Given the description of an element on the screen output the (x, y) to click on. 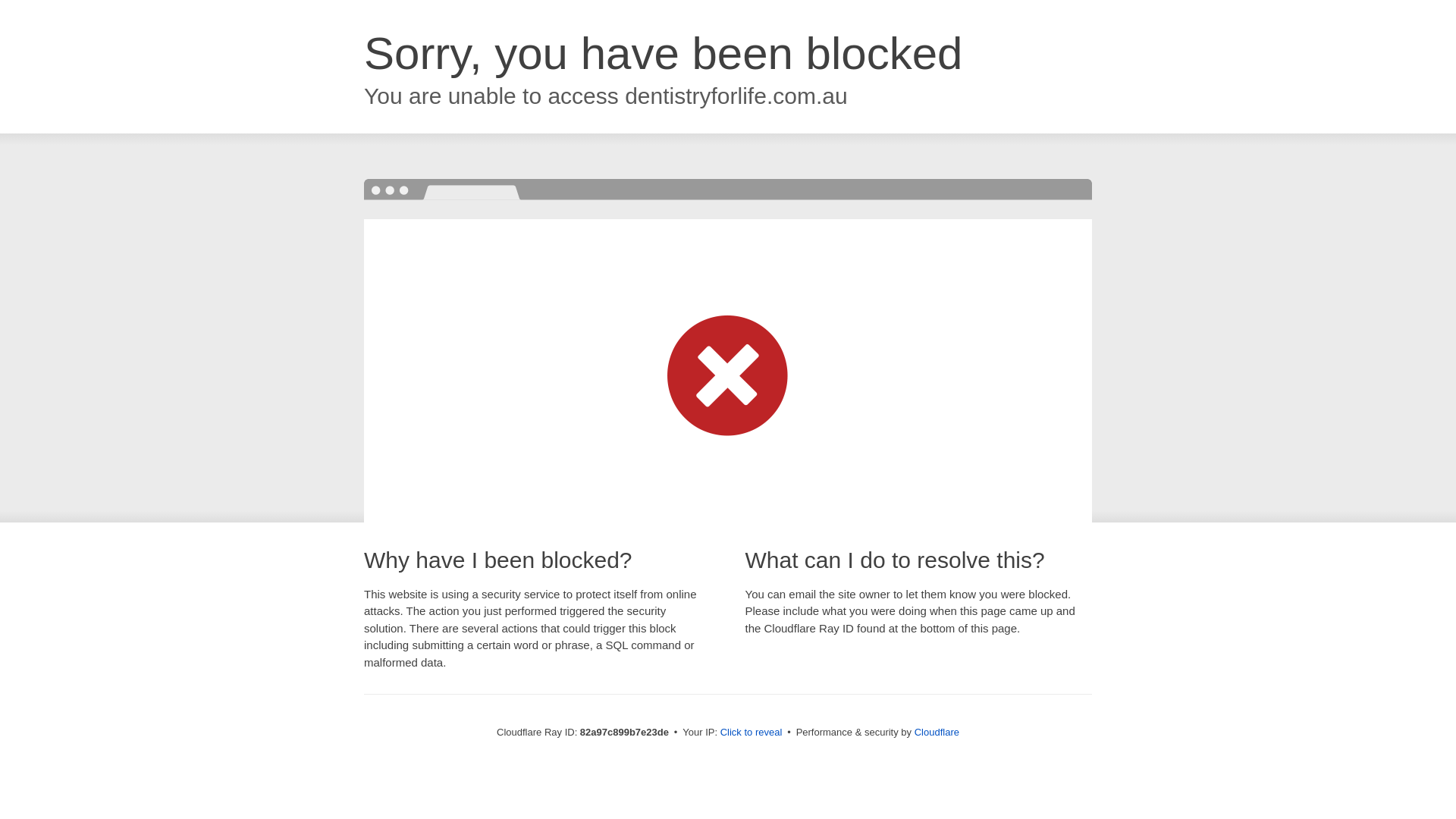
Click to reveal Element type: text (751, 732)
Cloudflare Element type: text (936, 731)
